Given the description of an element on the screen output the (x, y) to click on. 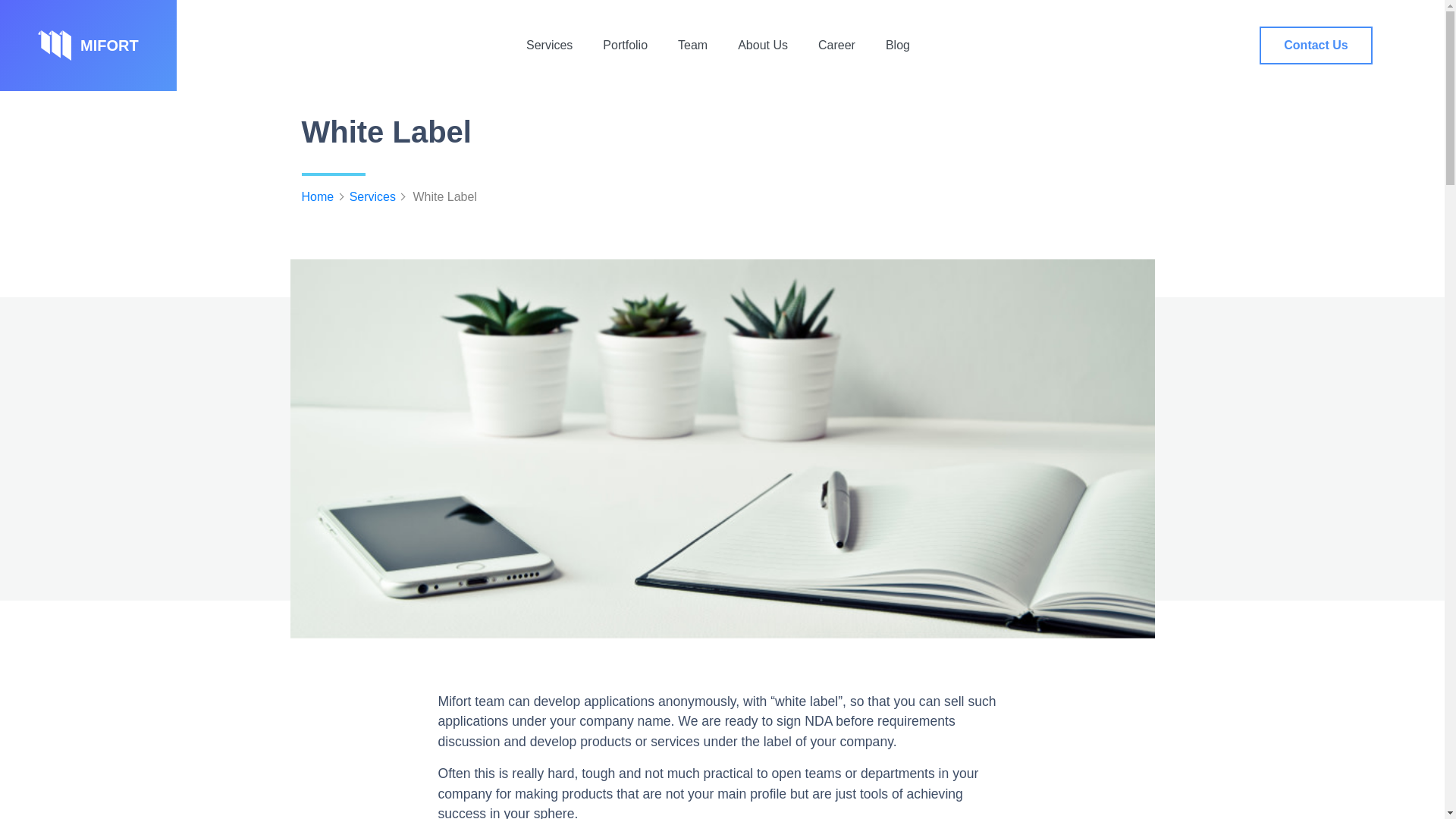
Portfolio (625, 45)
About Us (762, 45)
MIFORT (88, 45)
Contact Us (1315, 45)
Services (366, 196)
Services (549, 45)
Career (836, 45)
Blog (897, 45)
Home (317, 196)
Team (692, 45)
